Given the description of an element on the screen output the (x, y) to click on. 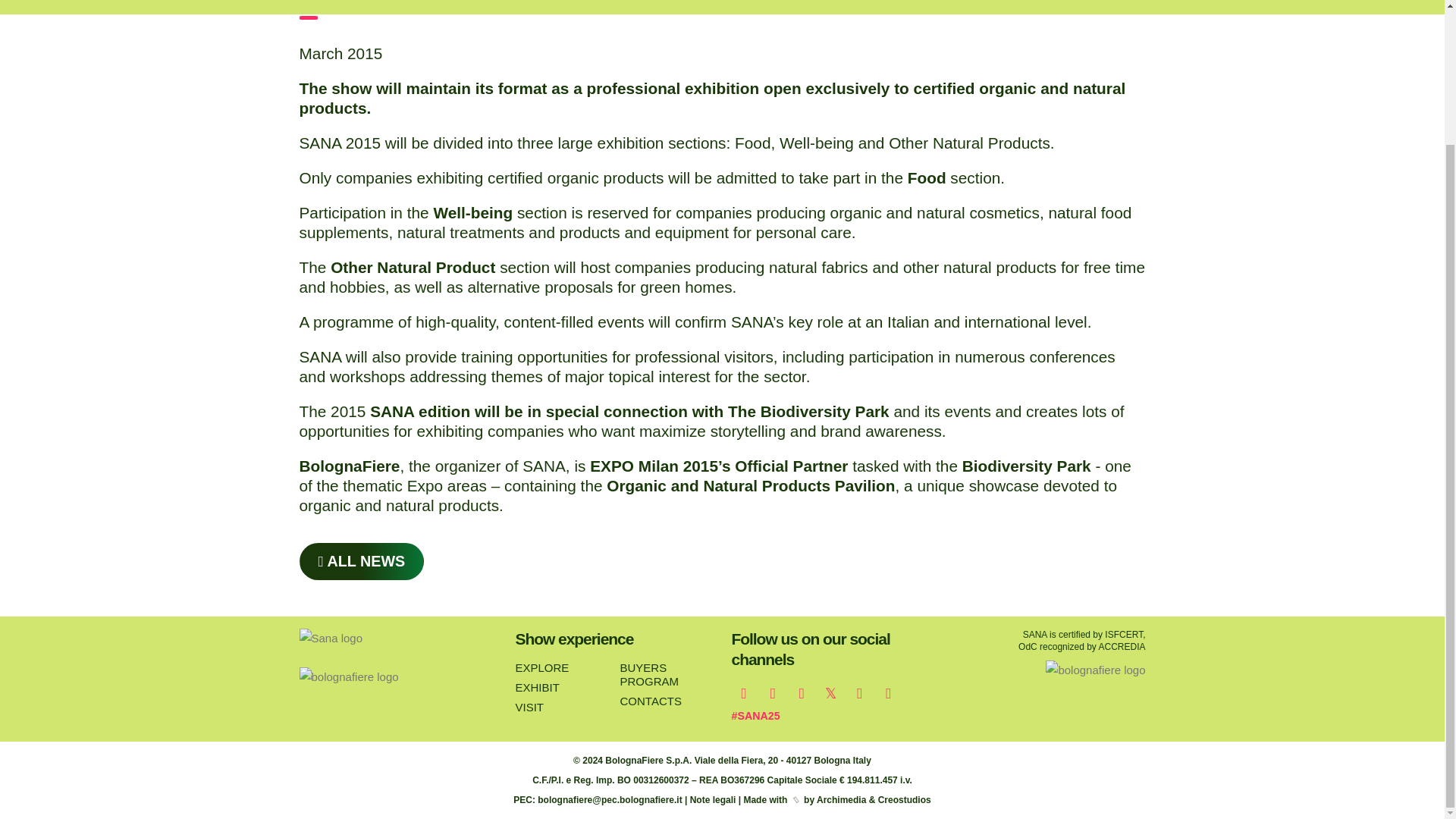
Instagram (742, 692)
Facebook (773, 692)
Inbound marketing Agency Rovigo Italy (841, 799)
Twitter (830, 692)
Facebook Messenger (801, 692)
youtube (888, 692)
Linkedin (859, 692)
